Given the description of an element on the screen output the (x, y) to click on. 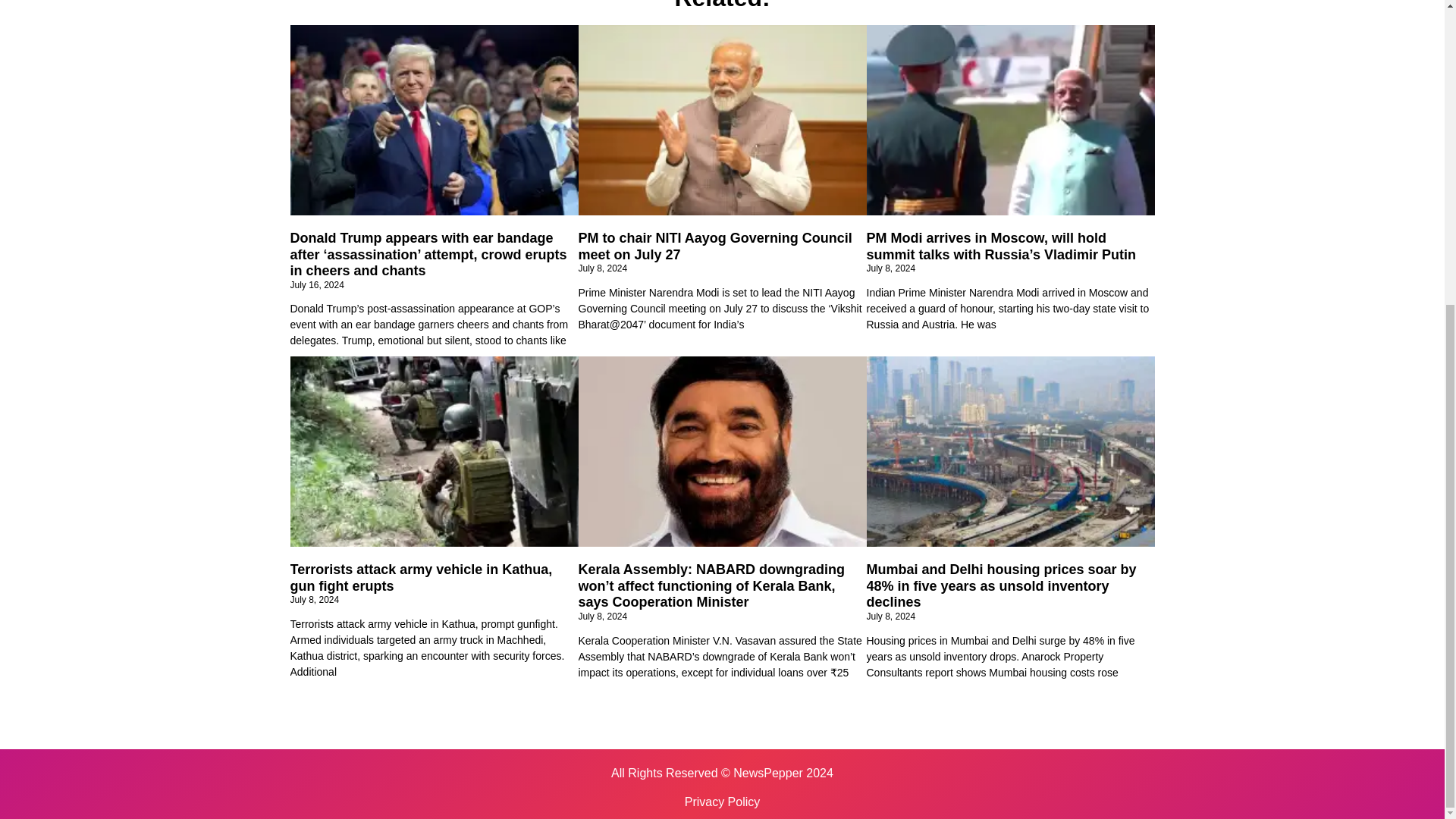
Terrorists attack army vehicle in Kathua, gun fight erupts (420, 577)
Privacy Policy (722, 802)
PM to chair NITI Aayog Governing Council meet on July 27 (714, 246)
